Given the description of an element on the screen output the (x, y) to click on. 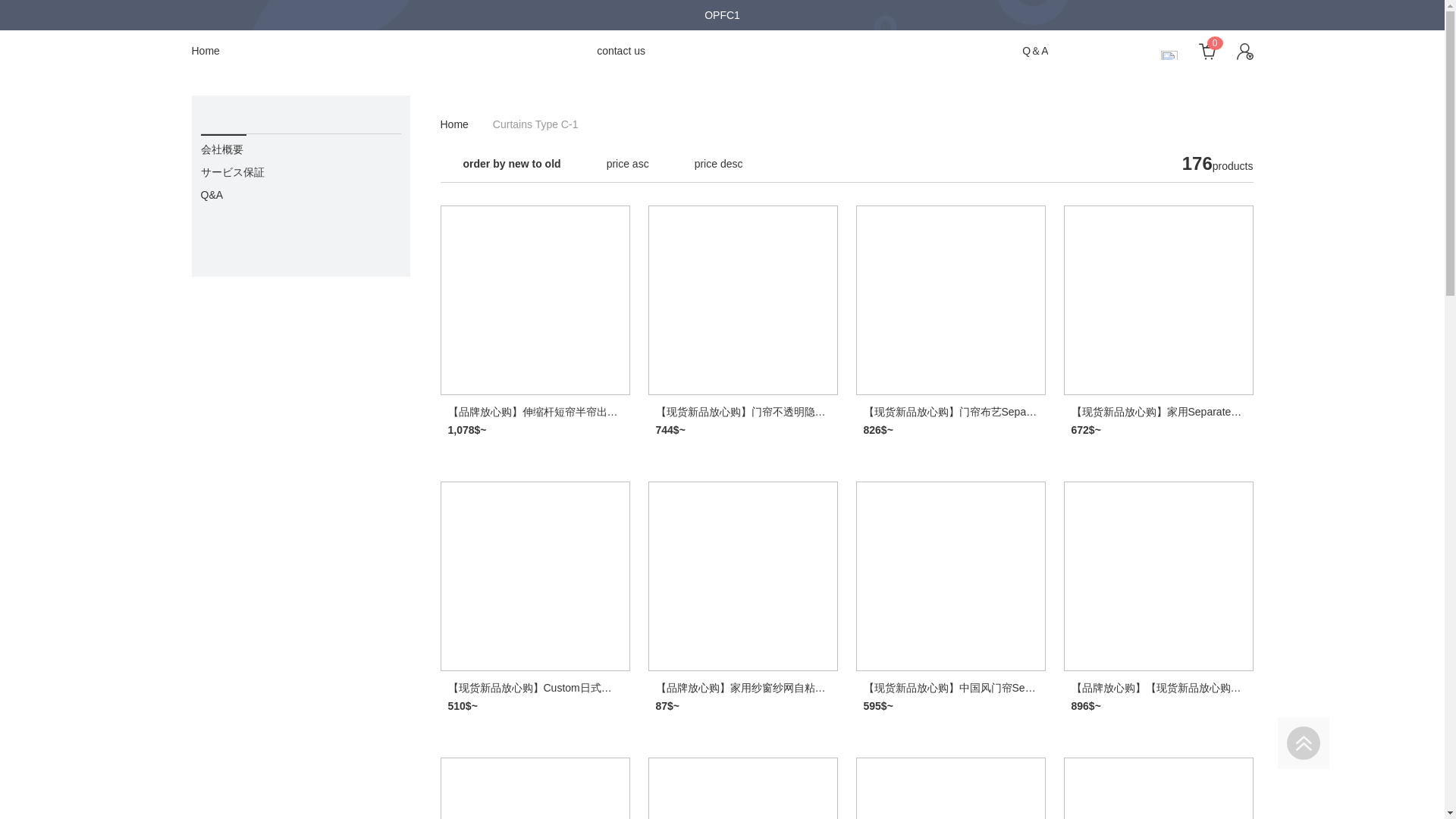
0 (1199, 50)
Curtains Type C-1 (535, 123)
price desc (718, 163)
Home (453, 123)
price asc (627, 163)
order by new to old (511, 163)
contact us (620, 49)
